Given the description of an element on the screen output the (x, y) to click on. 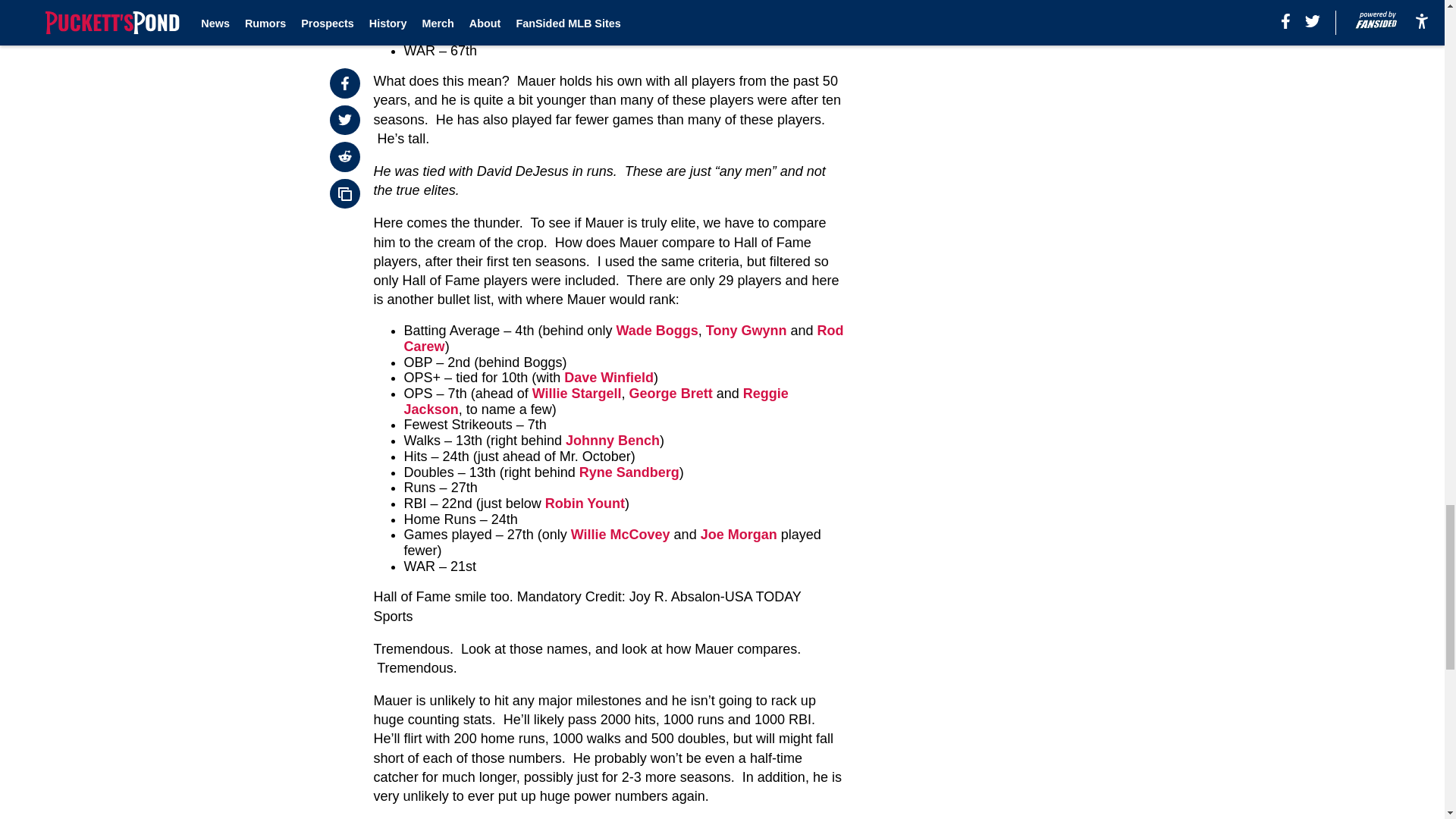
Willie Stargell (576, 393)
Dave Winfield (608, 377)
Rod Carew (624, 337)
George Brett (670, 393)
Wade Boggs (656, 330)
Tony Gwynn (746, 330)
